Given the description of an element on the screen output the (x, y) to click on. 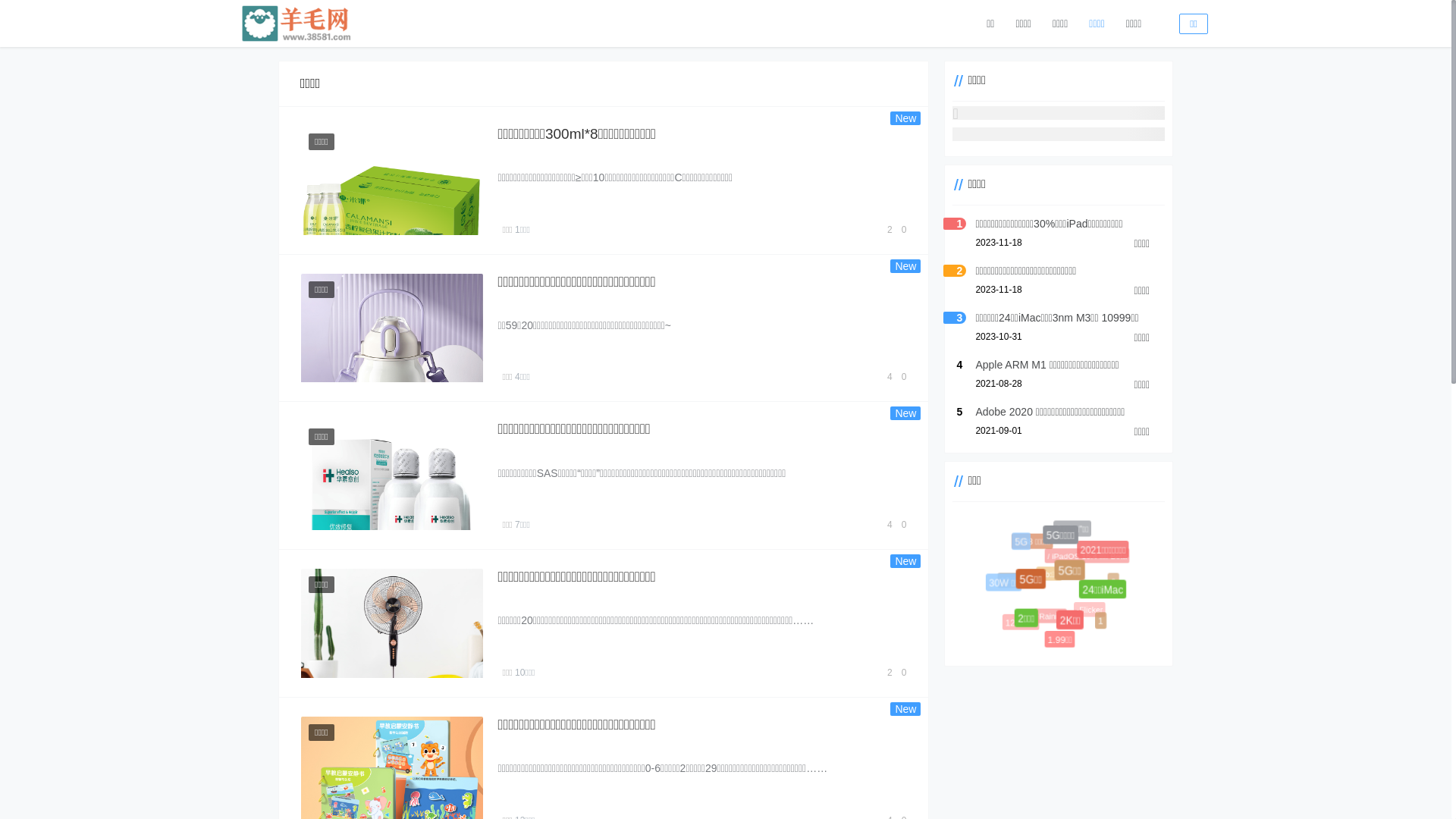
-Rainier Element type: text (1061, 626)
& Element type: text (1115, 583)
1 Element type: text (1098, 618)
5G Element type: text (1020, 541)
-Flicker Element type: text (1098, 617)
